Given the description of an element on the screen output the (x, y) to click on. 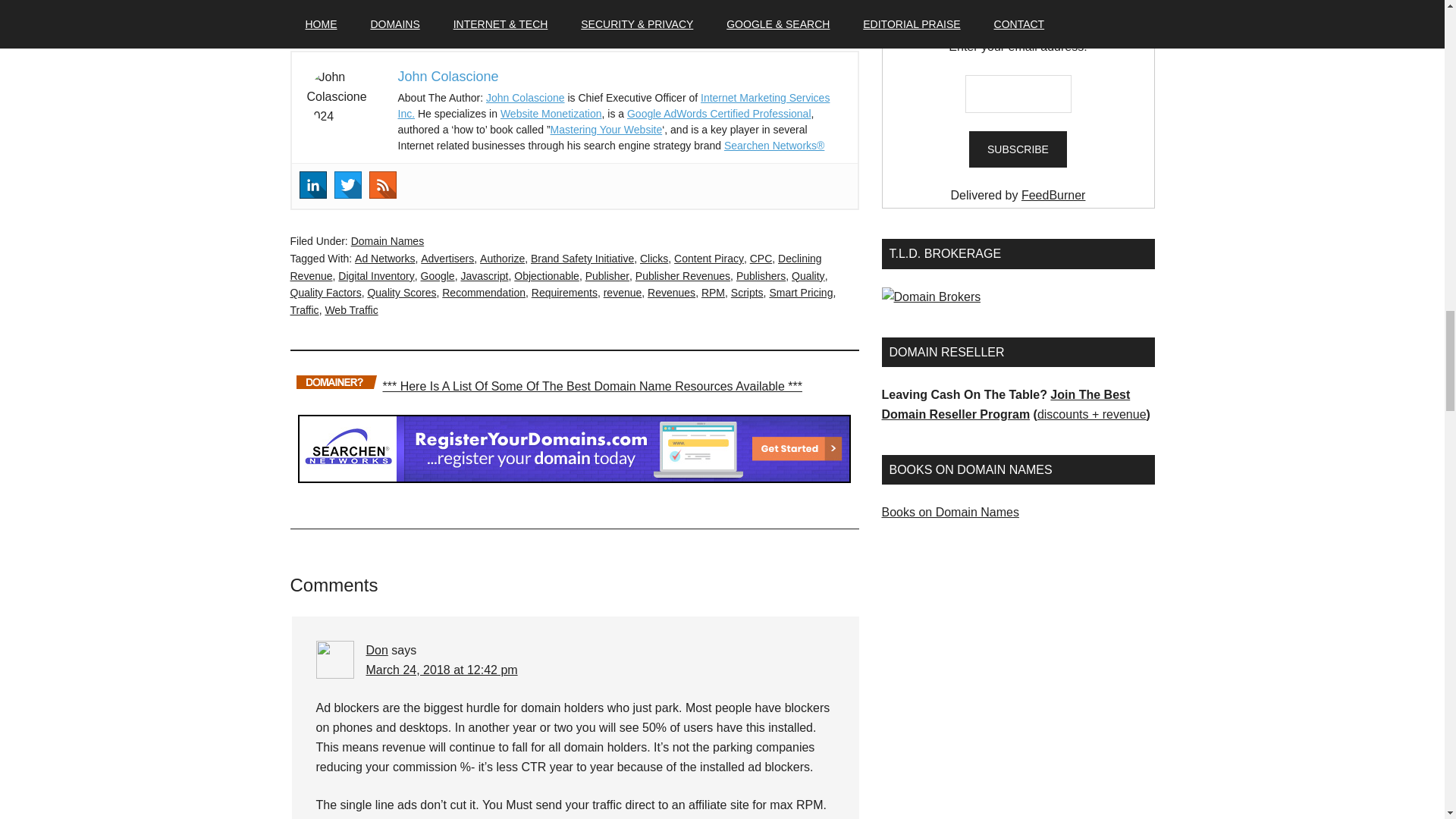
Google AdWords Certified Professional (718, 113)
Subscribe (1018, 149)
Rss (382, 185)
Linkedin (312, 185)
Internet Marketing Services Inc. (613, 105)
John Colascione (447, 76)
John Colascione (525, 97)
Website Monetization (551, 113)
Mastering Your Website (606, 129)
Twitter (347, 185)
